Given the description of an element on the screen output the (x, y) to click on. 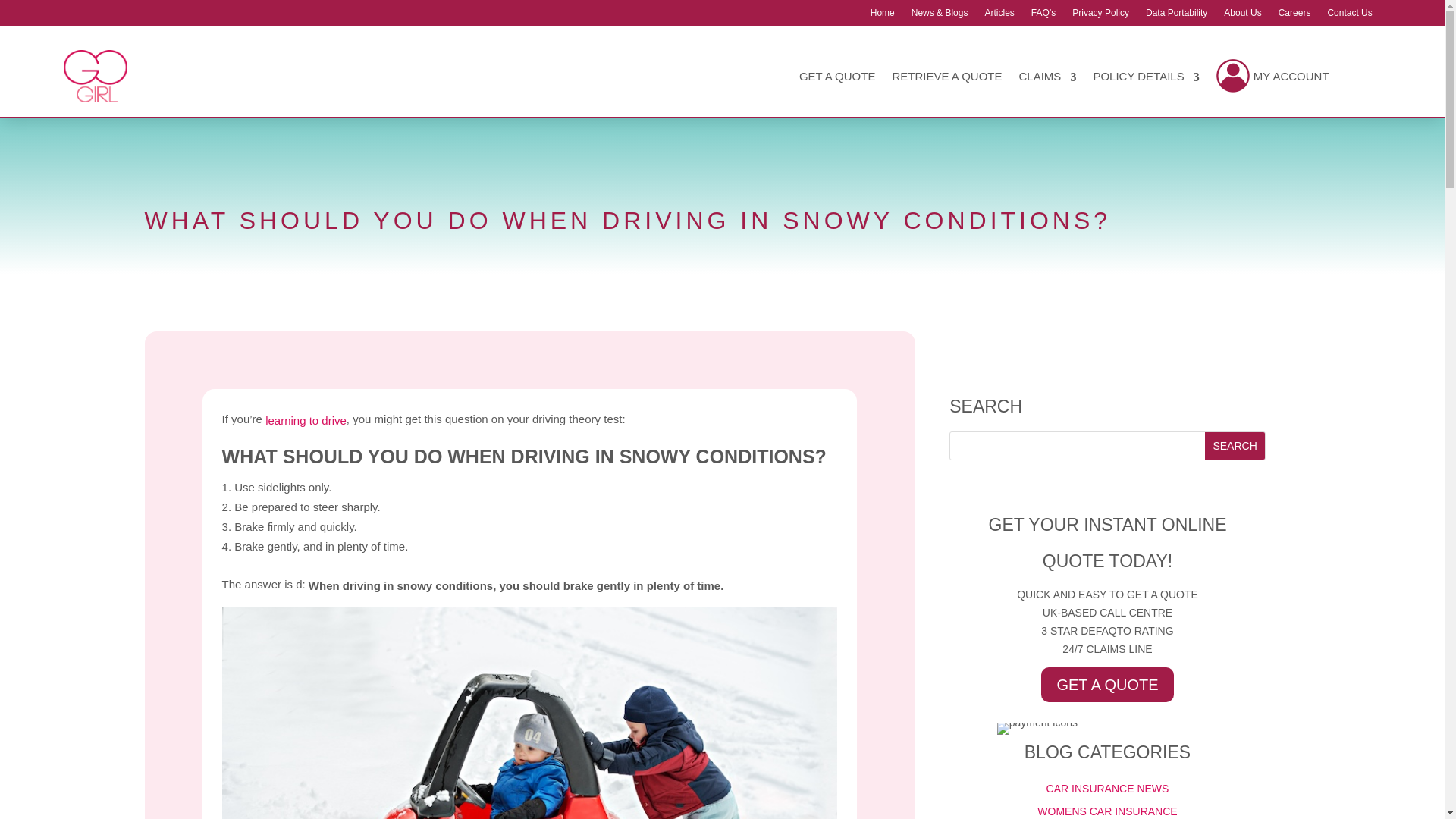
Data Portability (1176, 15)
Search (1234, 445)
Privacy Policy (1100, 15)
RETRIEVE A QUOTE (946, 76)
POLICY DETAILS (1145, 76)
 MY ACCOUNT (1272, 76)
payment icons (1037, 728)
Articles (998, 15)
About Us (1242, 15)
Contact Us (1348, 15)
Careers (1294, 15)
Home (882, 15)
GET A QUOTE (837, 76)
Search (1234, 445)
